Given the description of an element on the screen output the (x, y) to click on. 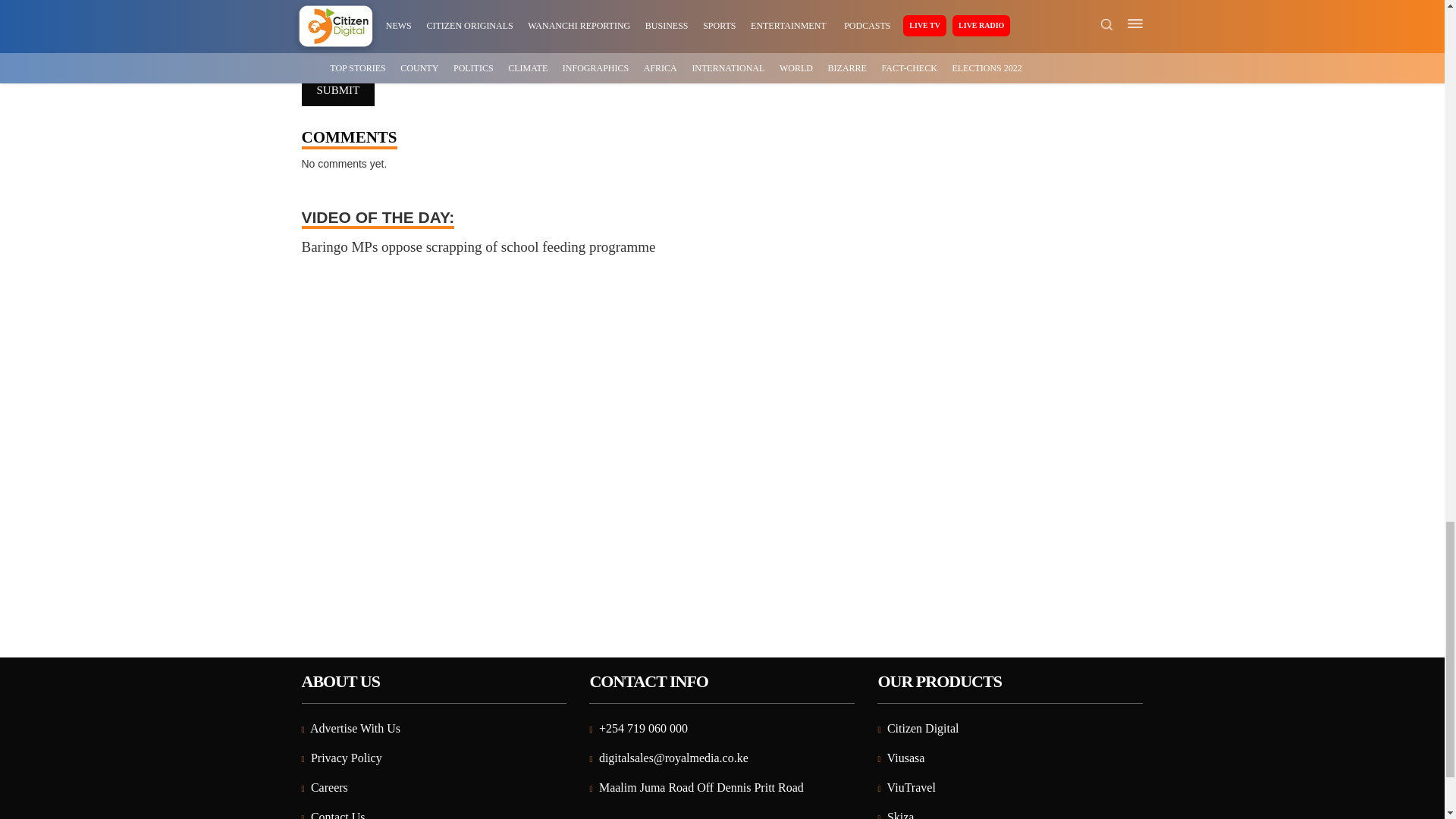
Submit (338, 90)
Submit (338, 90)
